Given the description of an element on the screen output the (x, y) to click on. 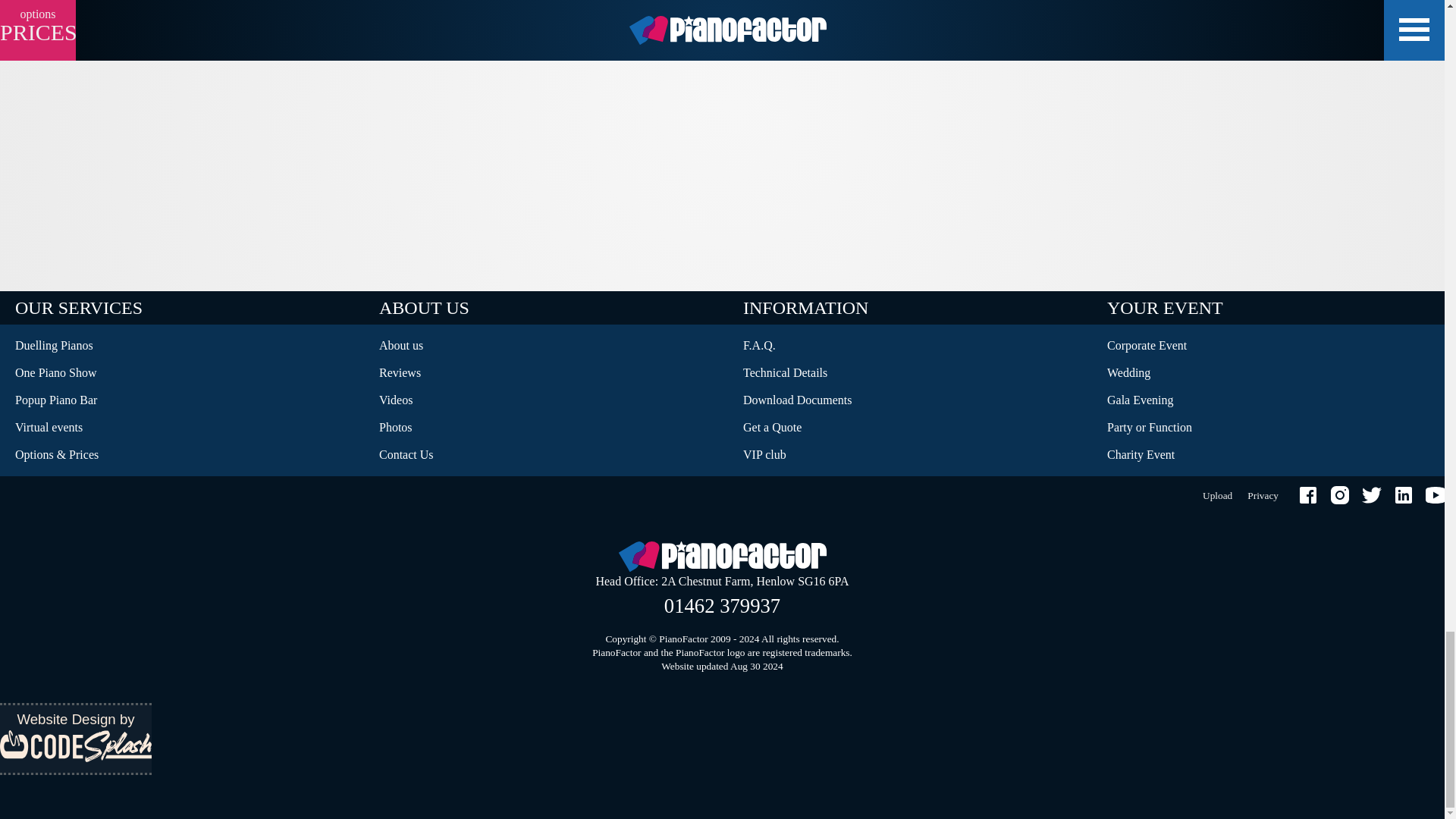
Contact Us (182, 454)
Reviews (546, 372)
Duelling Pianos (182, 345)
Live stream - Virtual Event (182, 427)
About us (546, 345)
Videos (546, 400)
FAQ (910, 345)
One Piano Show (182, 372)
Photos (546, 427)
Virtual events (182, 427)
